Given the description of an element on the screen output the (x, y) to click on. 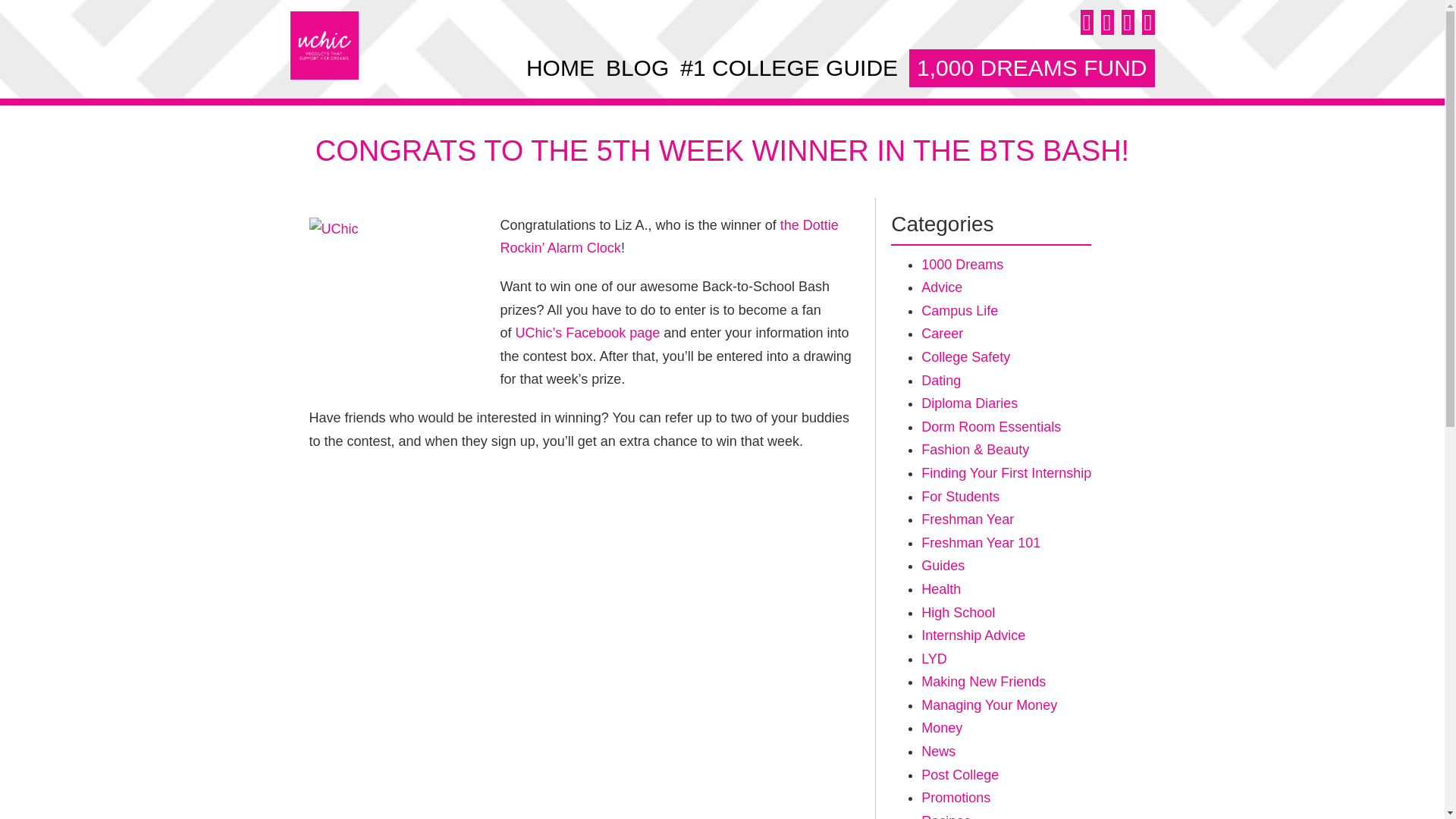
Diploma Diaries (969, 403)
Health (940, 589)
Blog (636, 67)
Freshman Year (967, 519)
Managing Your Money (989, 704)
LYD (934, 658)
1,000 Dreams Fund (1031, 67)
BLOG (636, 67)
UChic (323, 45)
1000 Dreams (962, 264)
